Given the description of an element on the screen output the (x, y) to click on. 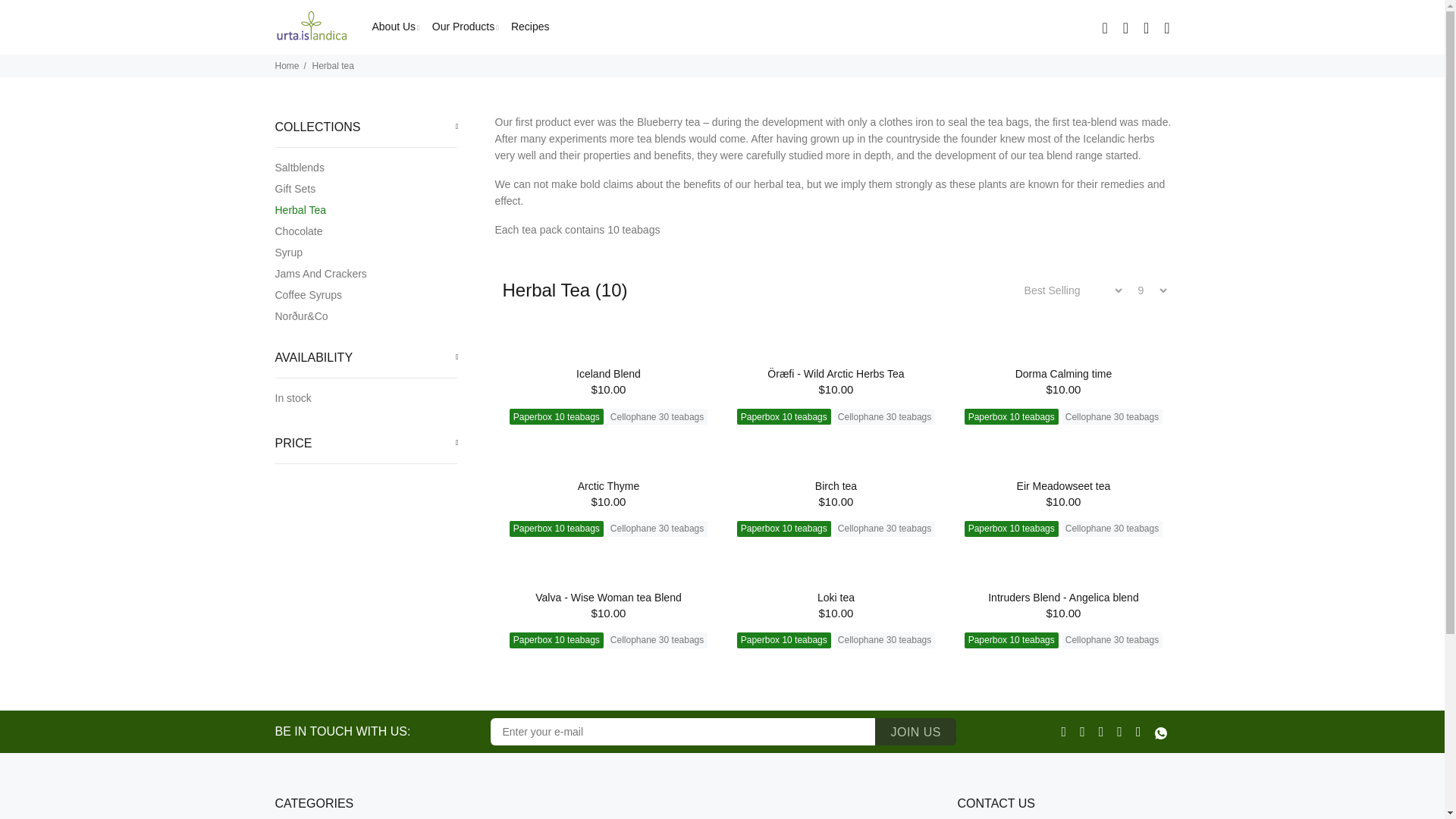
Our Products (465, 26)
About Us (393, 26)
Recipes (527, 26)
